Given the description of an element on the screen output the (x, y) to click on. 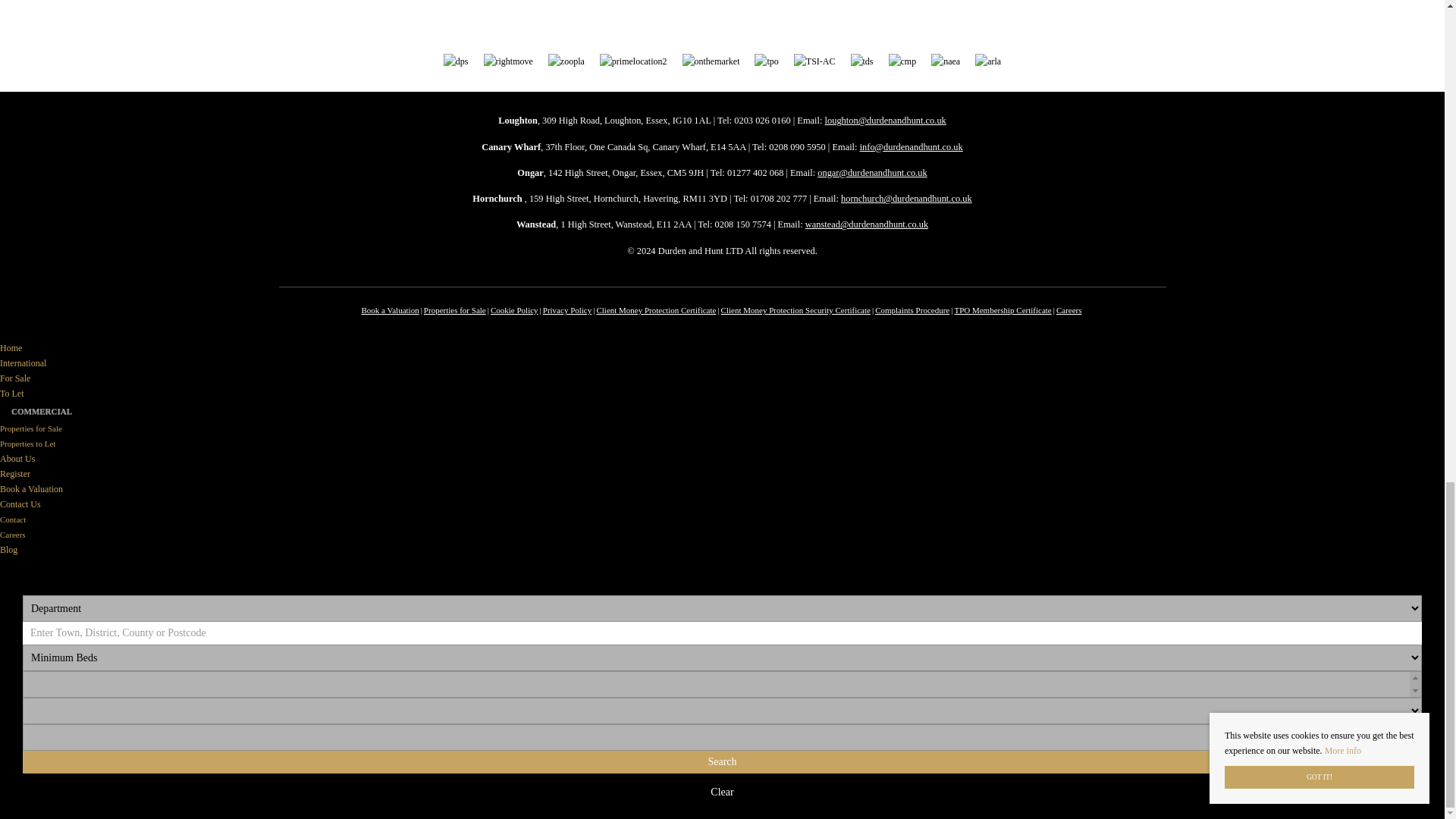
Book a Valuation (390, 309)
